Given the description of an element on the screen output the (x, y) to click on. 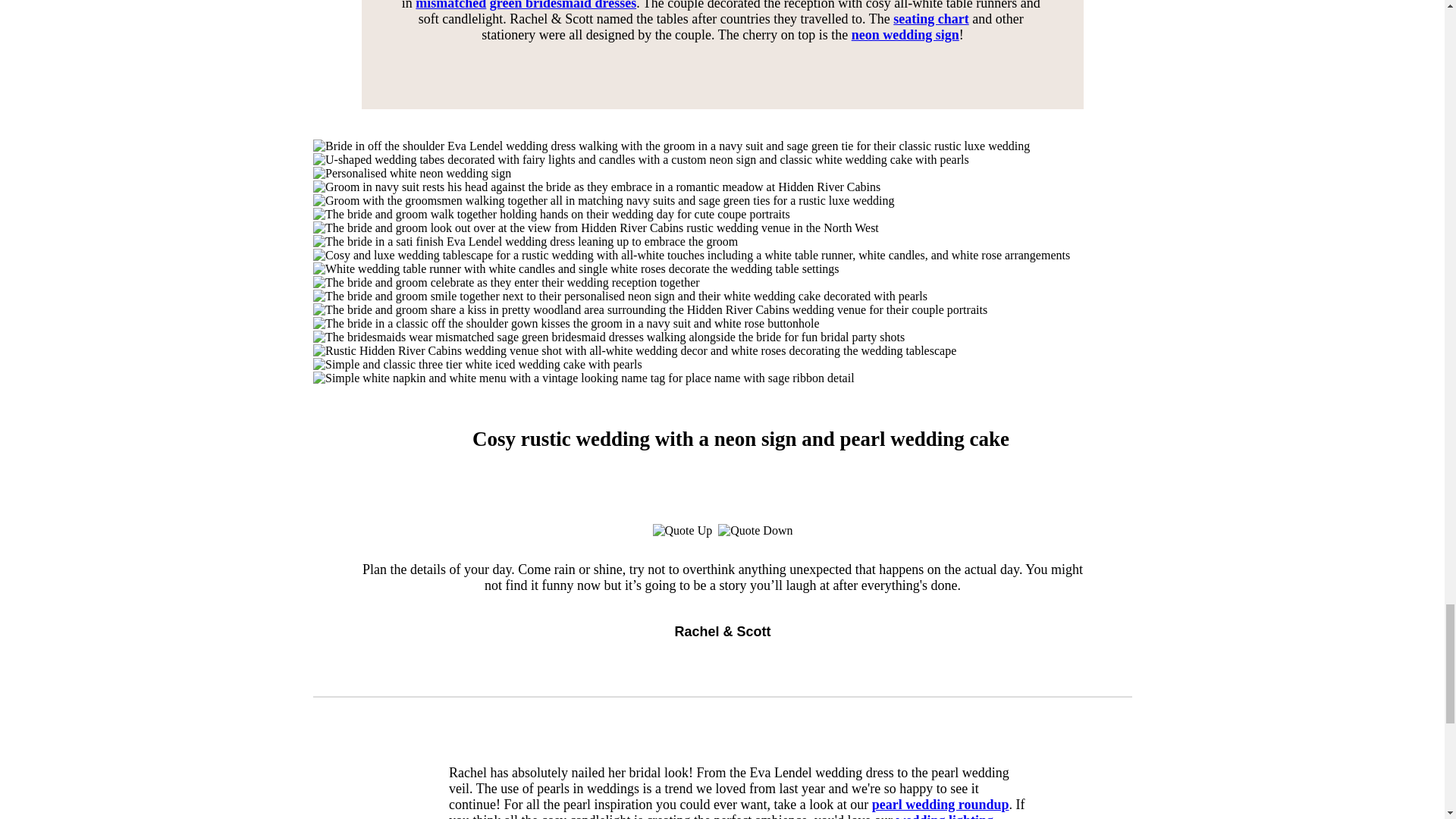
neon wedding sign (904, 34)
pearl wedding roundup (939, 804)
mismatched (450, 5)
green bridesmaid dresses (561, 5)
seating chart (930, 18)
